Given the description of an element on the screen output the (x, y) to click on. 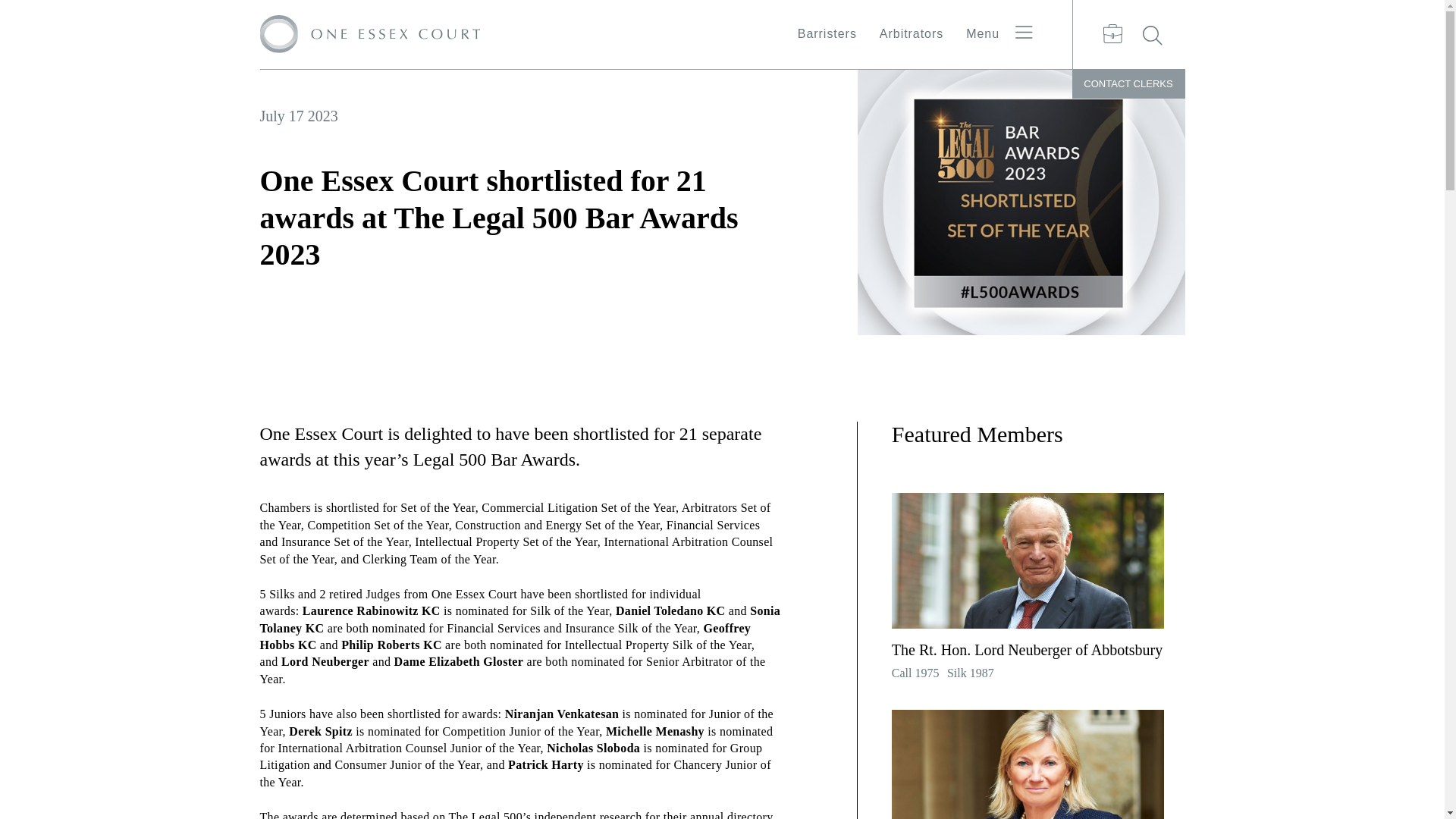
Barristers (827, 33)
CONTACT CLERKS (1128, 83)
Menu (1001, 29)
Arbitrators (911, 33)
